Given the description of an element on the screen output the (x, y) to click on. 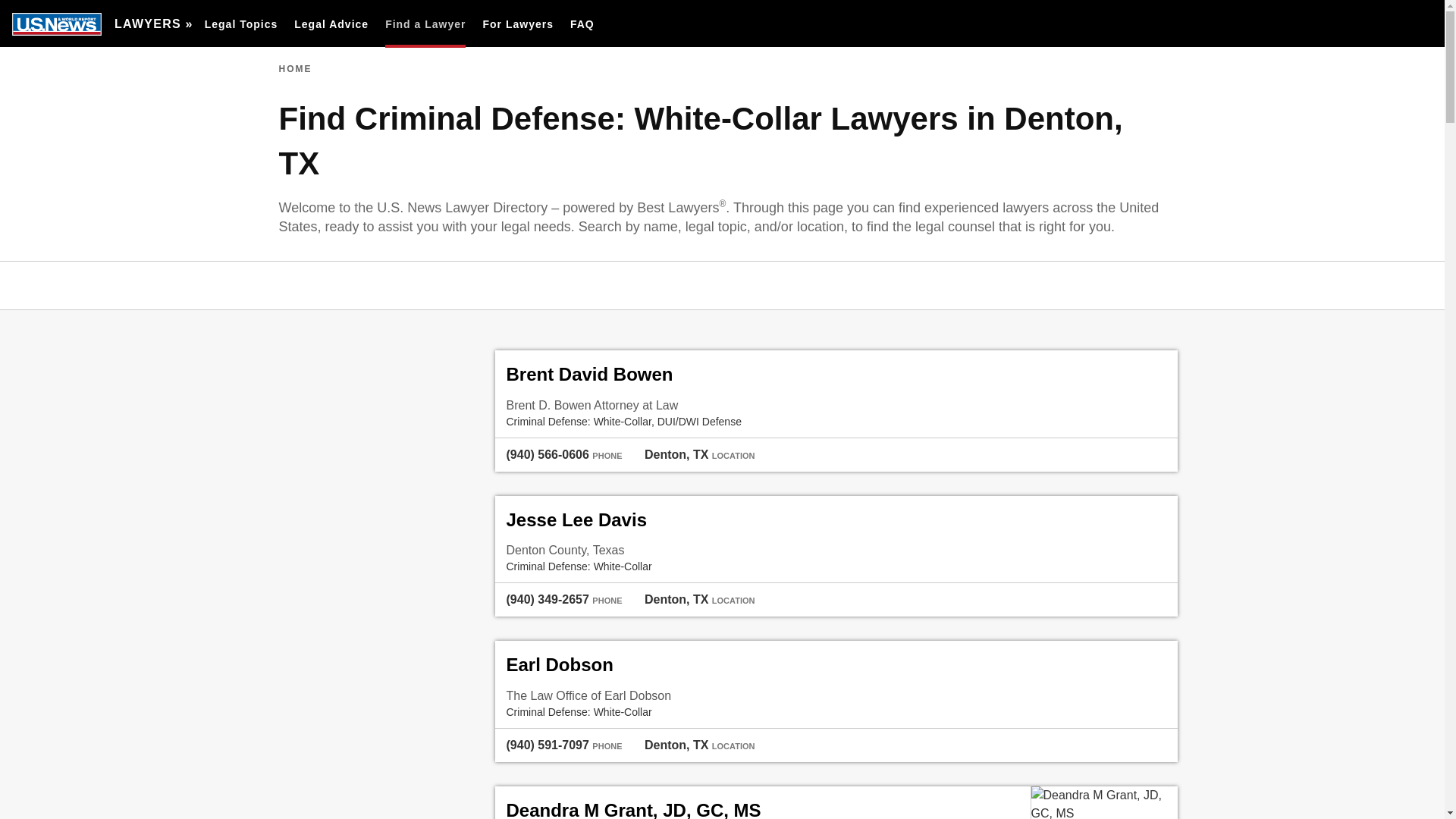
Legal Advice (331, 23)
U.S. News (56, 24)
Legal Topics (241, 23)
For Lawyers (517, 23)
Find a Lawyer (425, 23)
Deandra M Grant, JD, GC, MS (1103, 802)
